Given the description of an element on the screen output the (x, y) to click on. 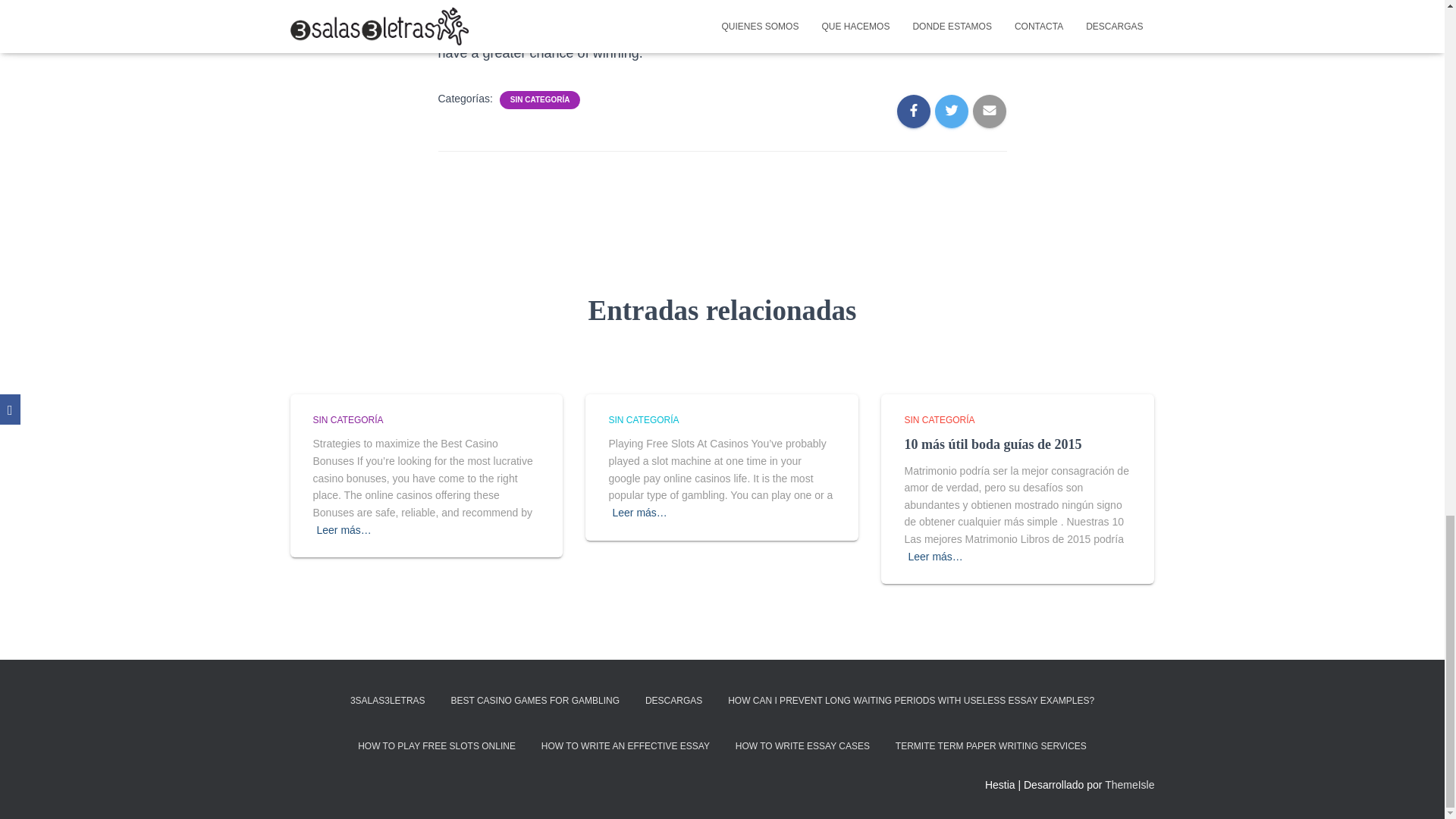
BEST CASINO GAMES FOR GAMBLING (534, 700)
HOW TO PLAY FREE SLOTS ONLINE (436, 746)
HOW TO WRITE ESSAY CASES (801, 746)
ThemeIsle (1129, 784)
TERMITE TERM PAPER WRITING SERVICES (990, 746)
HOW TO WRITE AN EFFECTIVE ESSAY (624, 746)
3SALAS3LETRAS (387, 700)
DESCARGAS (673, 700)
